Given the description of an element on the screen output the (x, y) to click on. 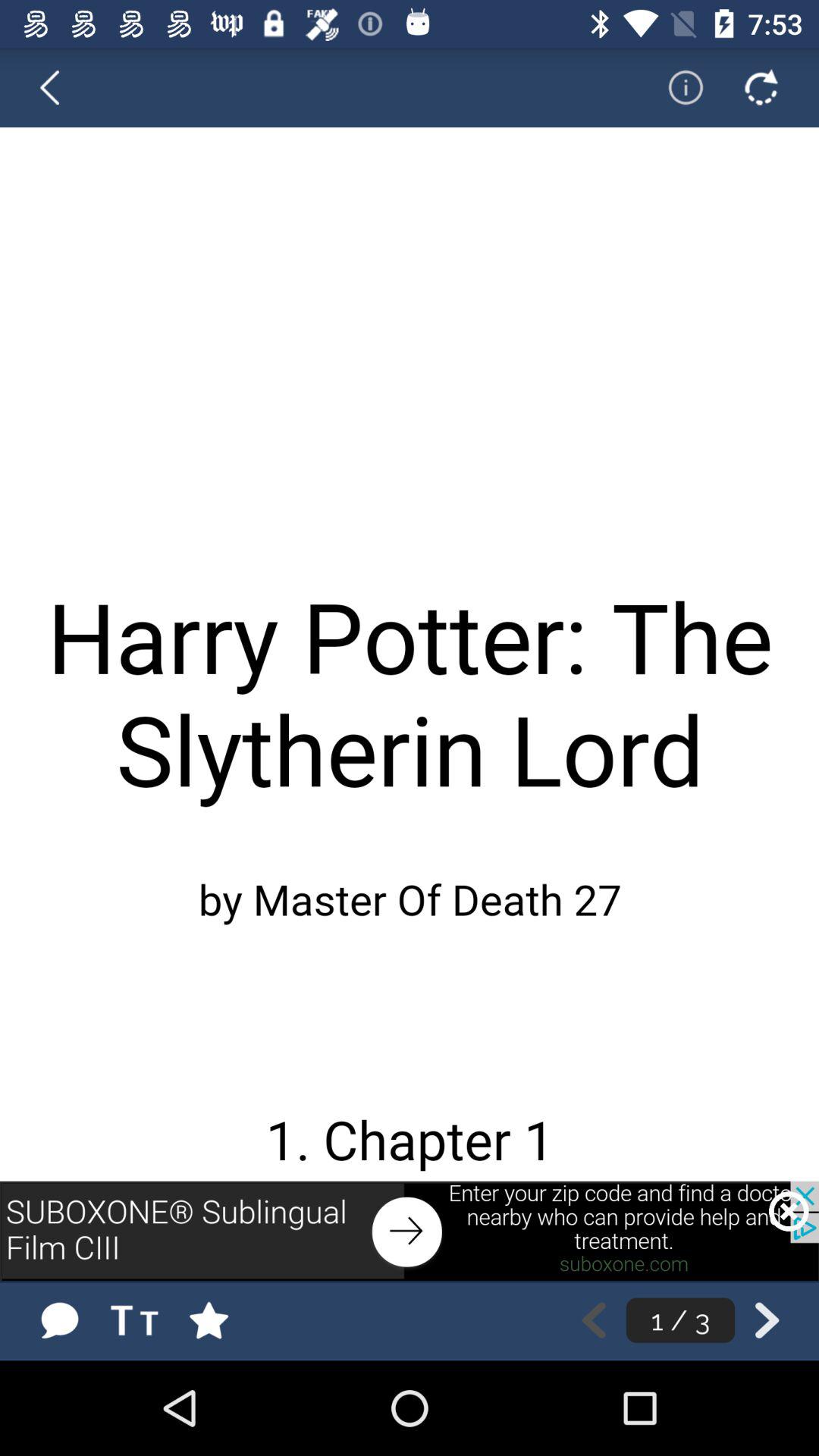
view information (675, 87)
